Given the description of an element on the screen output the (x, y) to click on. 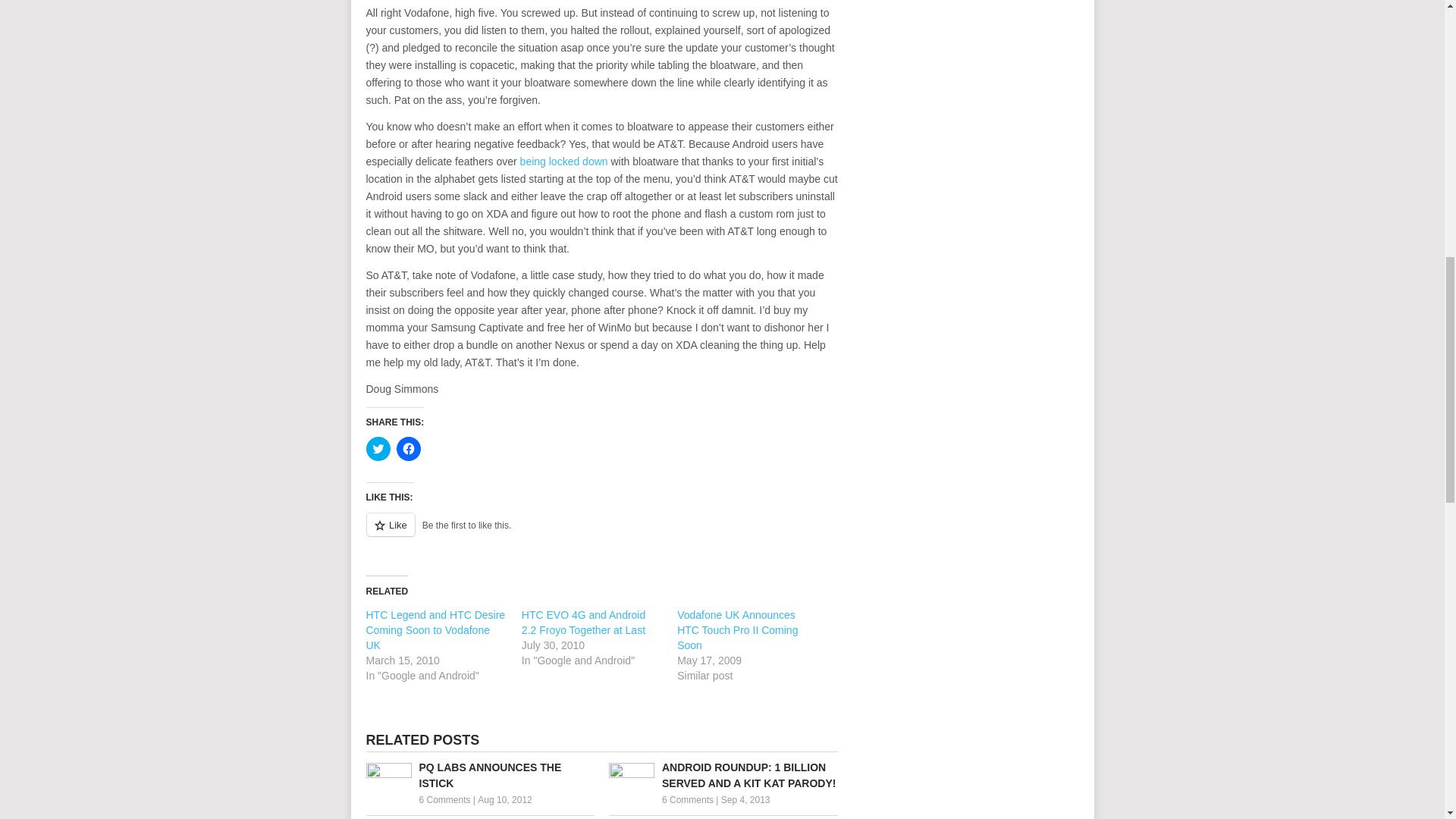
HTC Legend and HTC Desire Coming Soon to Vodafone UK (435, 630)
Click to share on Facebook (408, 448)
Click to share on Twitter (377, 448)
6 Comments (687, 799)
Like or Reblog (601, 533)
6 Comments (444, 799)
HTC Legend and HTC Desire Coming Soon to Vodafone UK (435, 630)
PQ LABS ANNOUNCES THE ISTICK (479, 775)
ANDROID ROUNDUP: 1 BILLION SERVED AND A KIT KAT PARODY! (723, 775)
HTC EVO 4G and Android 2.2 Froyo Together at Last (583, 622)
being locked down (563, 161)
Vodafone UK Announces HTC Touch Pro II Coming Soon (737, 630)
